Given the description of an element on the screen output the (x, y) to click on. 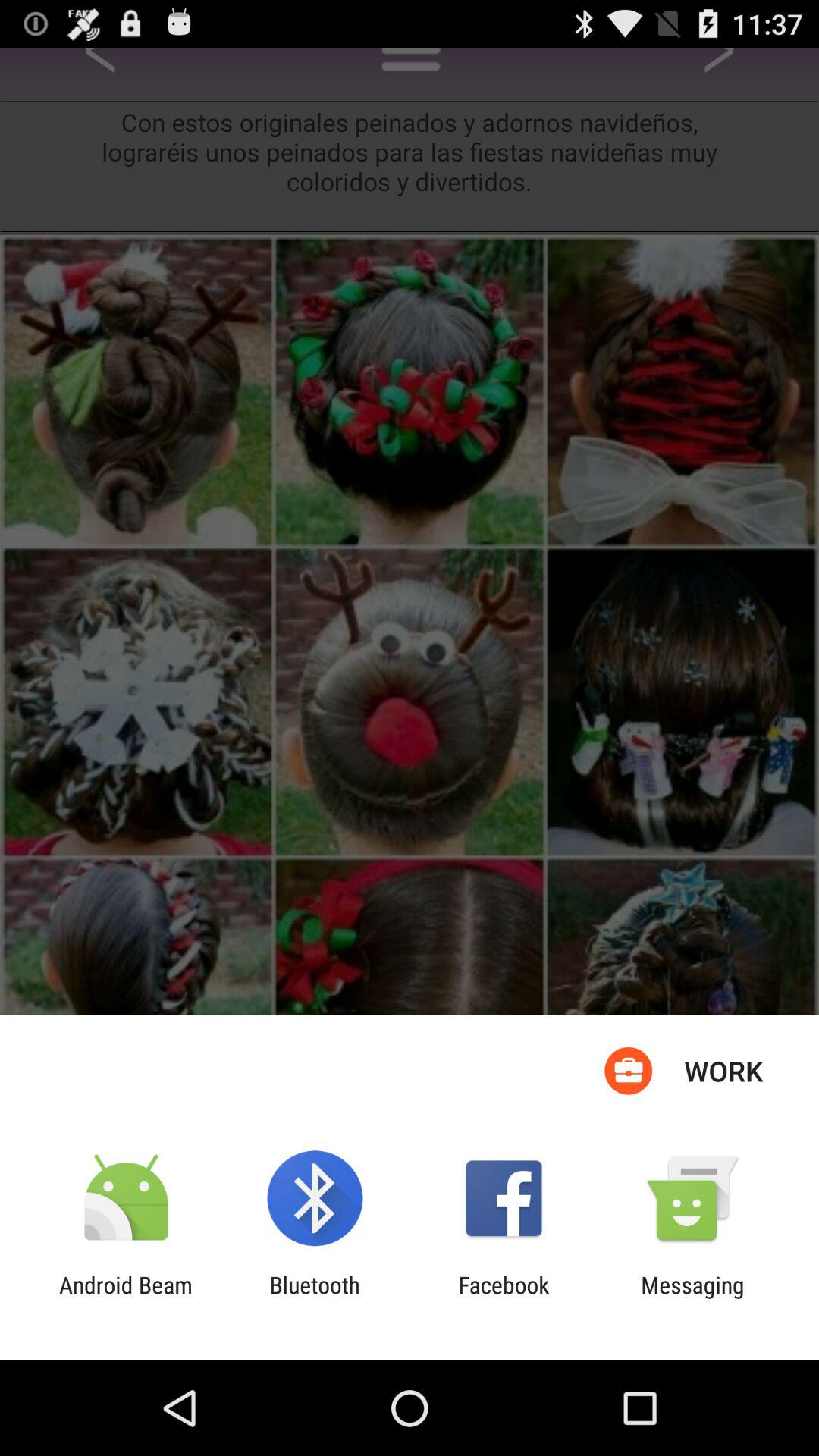
jump to facebook item (503, 1298)
